Given the description of an element on the screen output the (x, y) to click on. 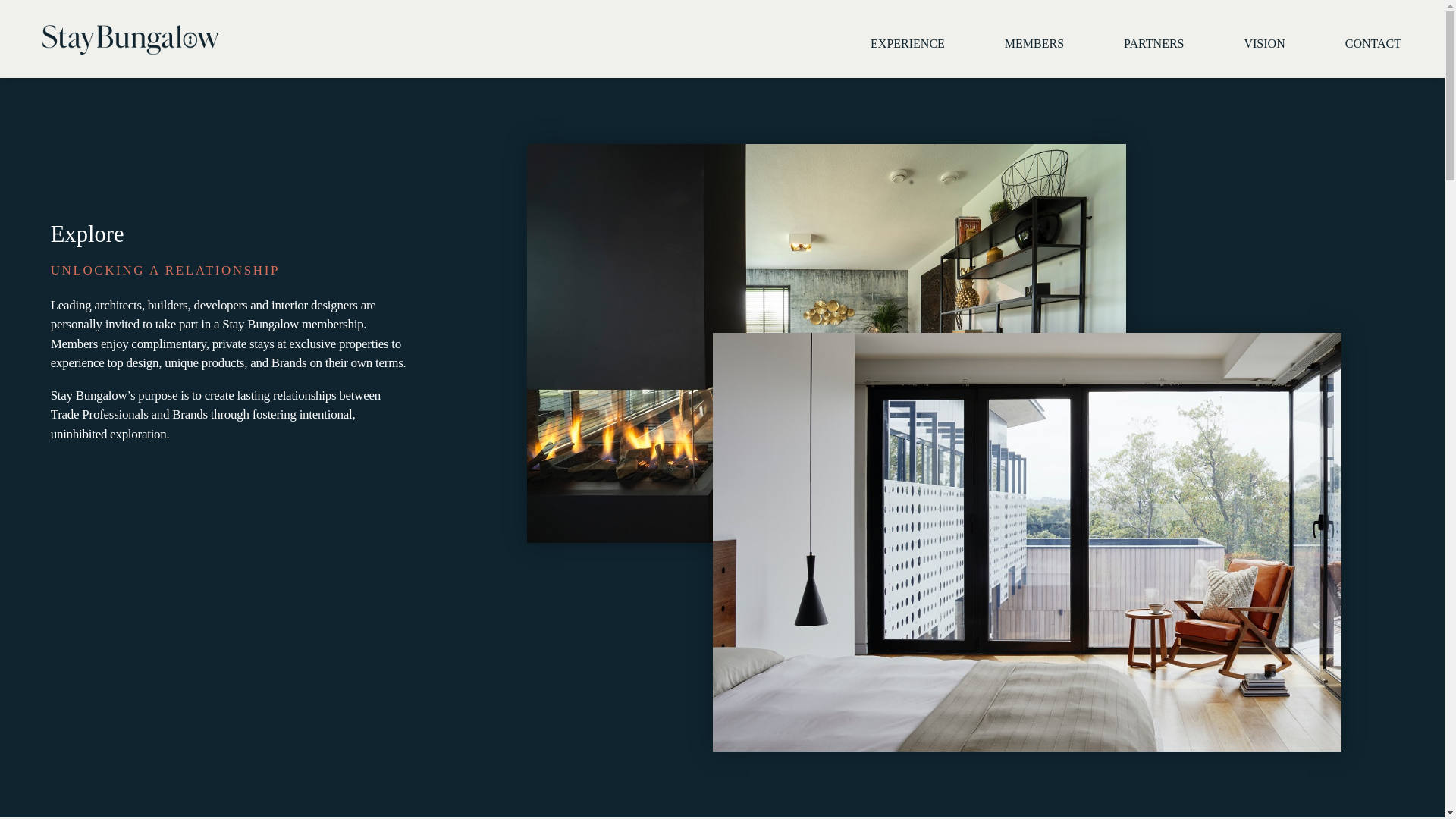
MEMBERS (1033, 44)
VISION (1264, 44)
PARTNERS (1153, 44)
CONTACT (1376, 44)
EXPERIENCE (907, 44)
